Given the description of an element on the screen output the (x, y) to click on. 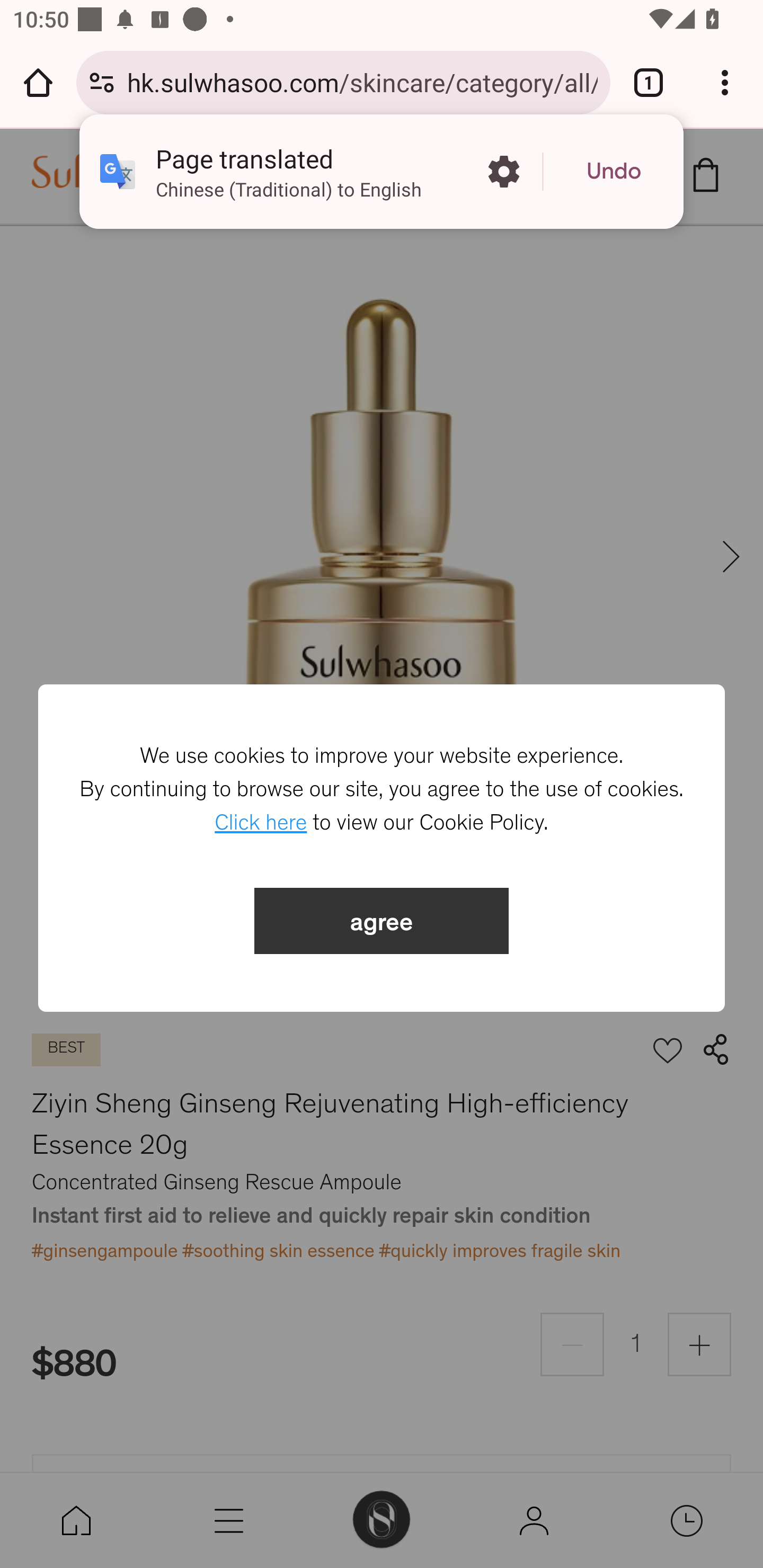
Open the home page (38, 82)
Connection is secure (101, 82)
Switch or close tabs (648, 82)
Customize and control Google Chrome (724, 82)
Undo (613, 171)
More options in the Page translated (503, 171)
Click here (261, 822)
agree (381, 920)
